Given the description of an element on the screen output the (x, y) to click on. 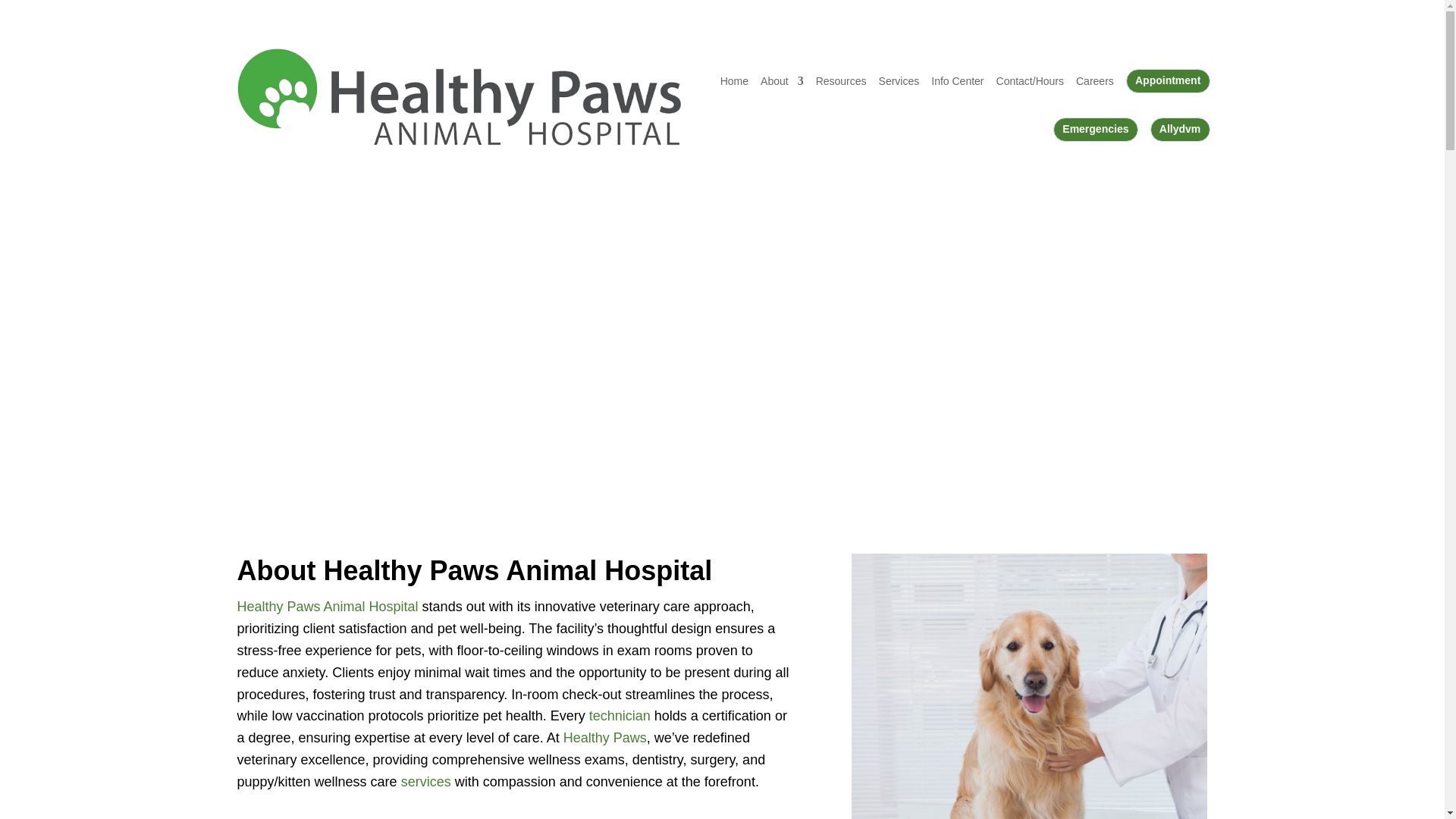
Appointment (1167, 80)
Info Center (957, 80)
Allydvm (1179, 128)
About us image (1029, 686)
technician (619, 715)
services (426, 781)
Emergencies (1095, 128)
Healthy Paws (604, 737)
Healthy Paws Animal Hospital (326, 606)
